Given the description of an element on the screen output the (x, y) to click on. 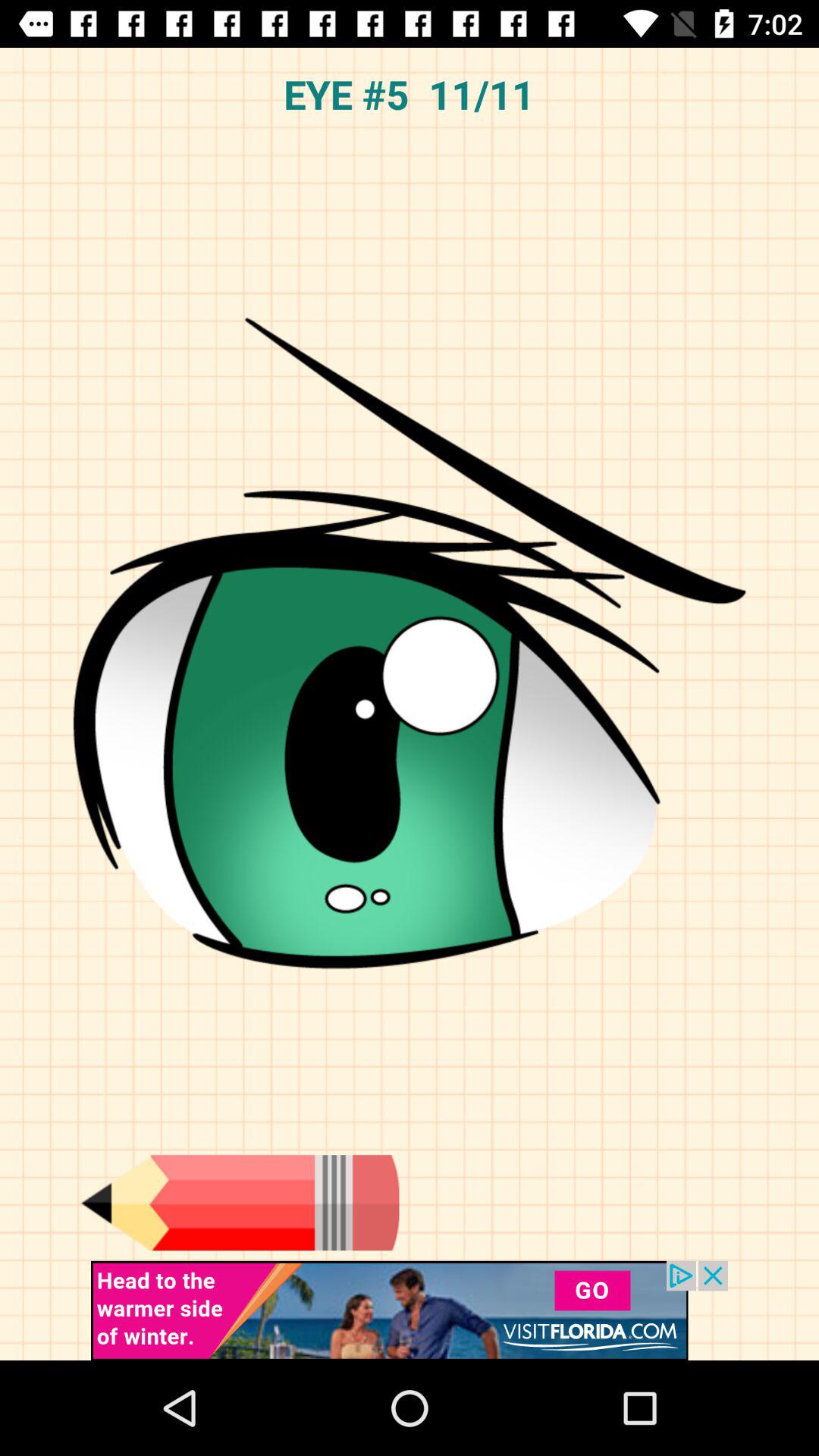
open the pencil (239, 1202)
